Given the description of an element on the screen output the (x, y) to click on. 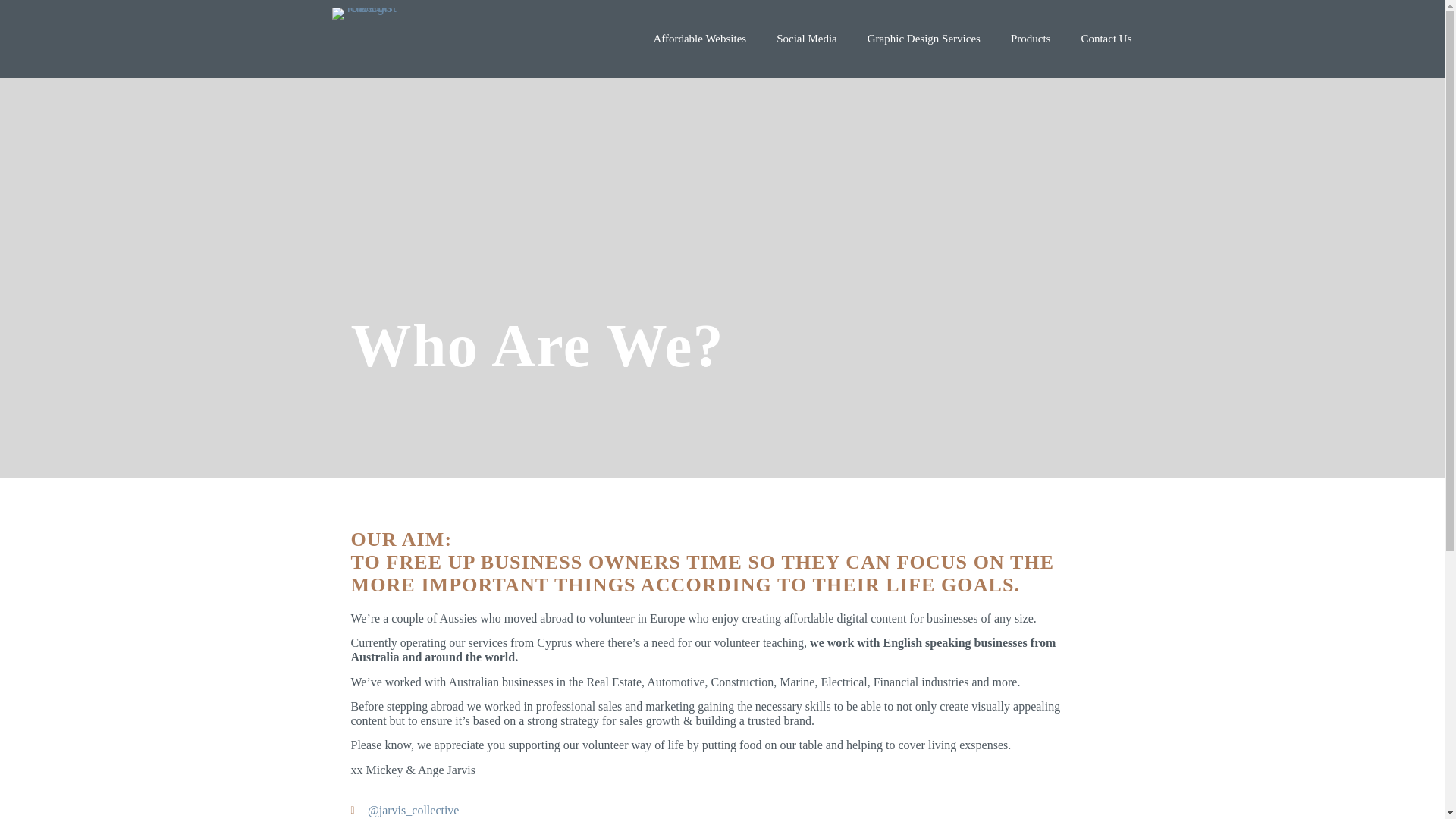
Social Media (806, 38)
Affordable Websites (699, 38)
Graphic Design Services (923, 38)
Products (1030, 38)
Contact Us (1106, 38)
